Given the description of an element on the screen output the (x, y) to click on. 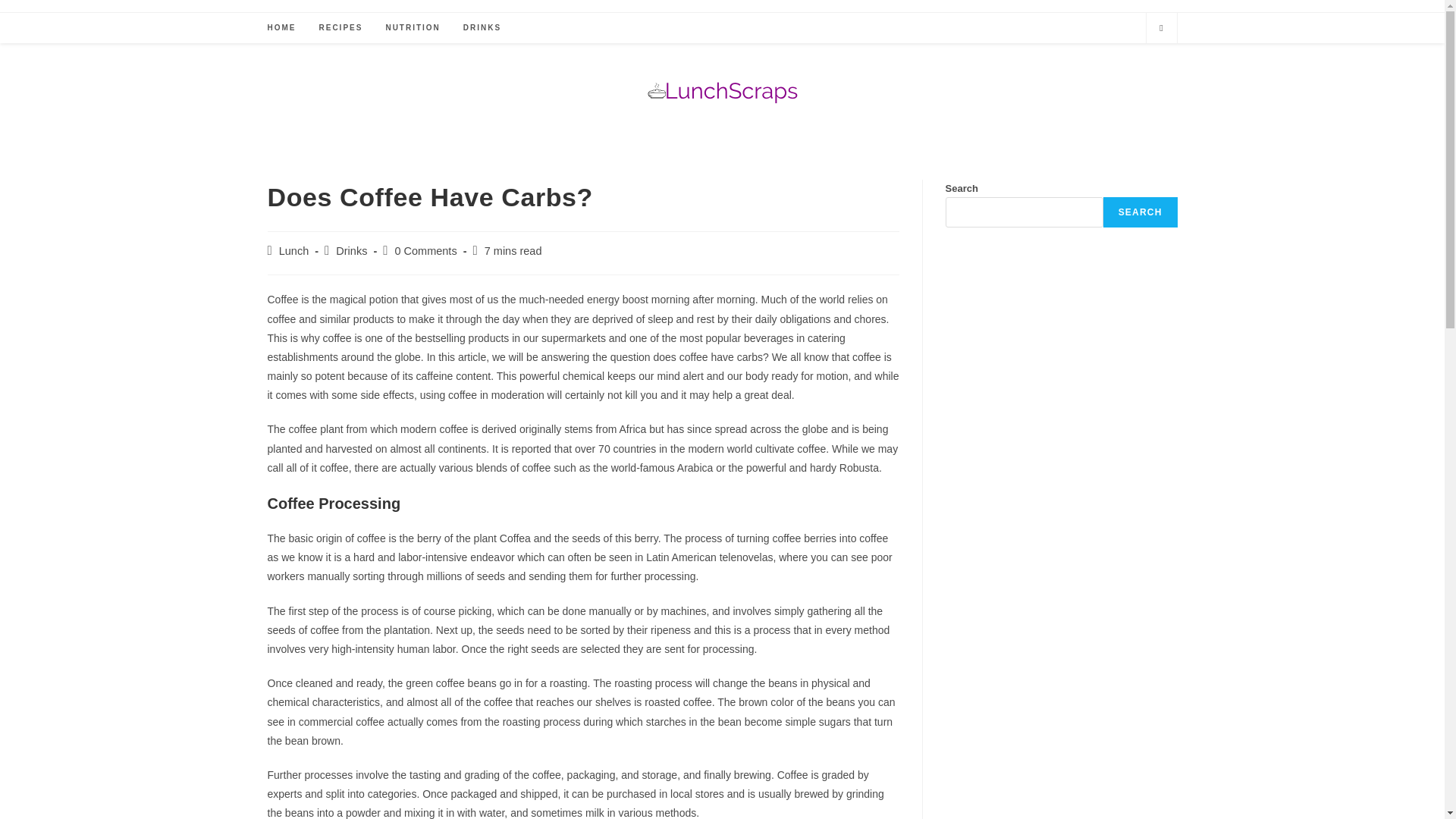
RECIPES (340, 28)
SEARCH (1140, 212)
HOME (281, 28)
NUTRITION (412, 28)
Lunch (293, 250)
DRINKS (481, 28)
Posts by Lunch (293, 250)
0 Comments (425, 250)
Drinks (351, 250)
